Given the description of an element on the screen output the (x, y) to click on. 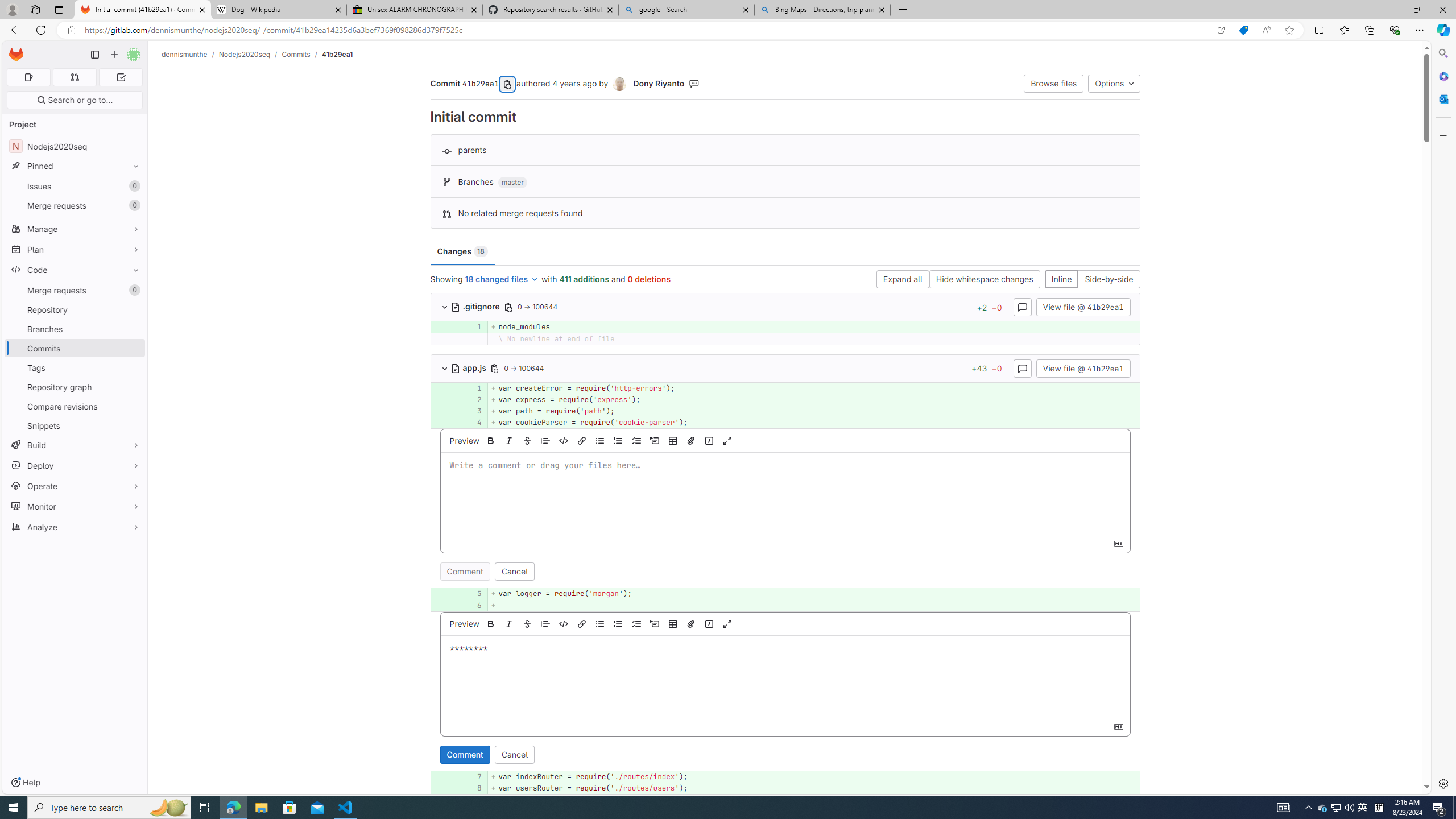
Monitor (74, 506)
Dony Riyanto (658, 83)
Repository graph (74, 386)
6 (472, 605)
1 (472, 387)
Add a bullet list (599, 623)
Repository (74, 309)
Pin Repository (132, 309)
Unpin Issues (132, 186)
